Given the description of an element on the screen output the (x, y) to click on. 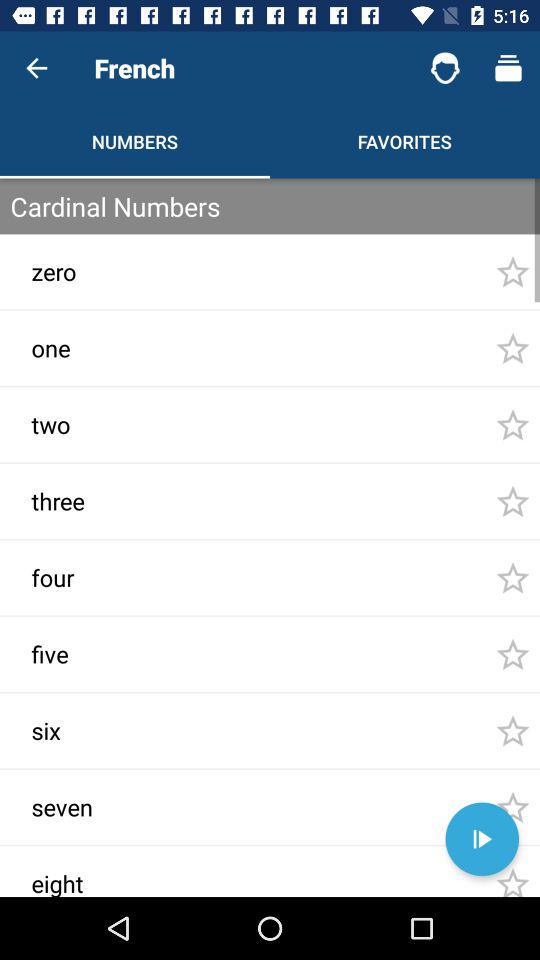
click on the third star from the top at the right side of the page (512, 424)
